Given the description of an element on the screen output the (x, y) to click on. 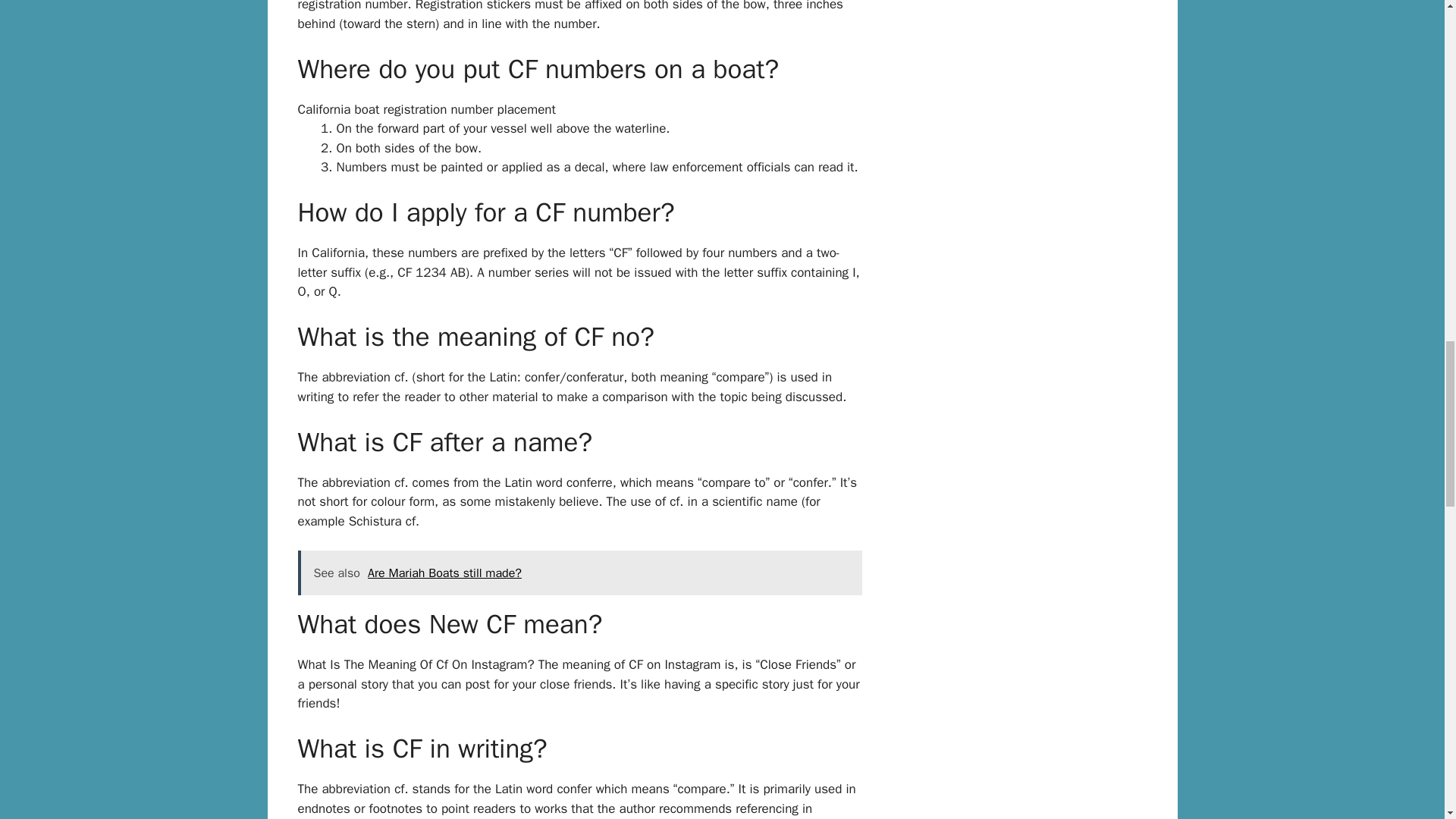
See also  Are Mariah Boats still made? (579, 573)
